Given the description of an element on the screen output the (x, y) to click on. 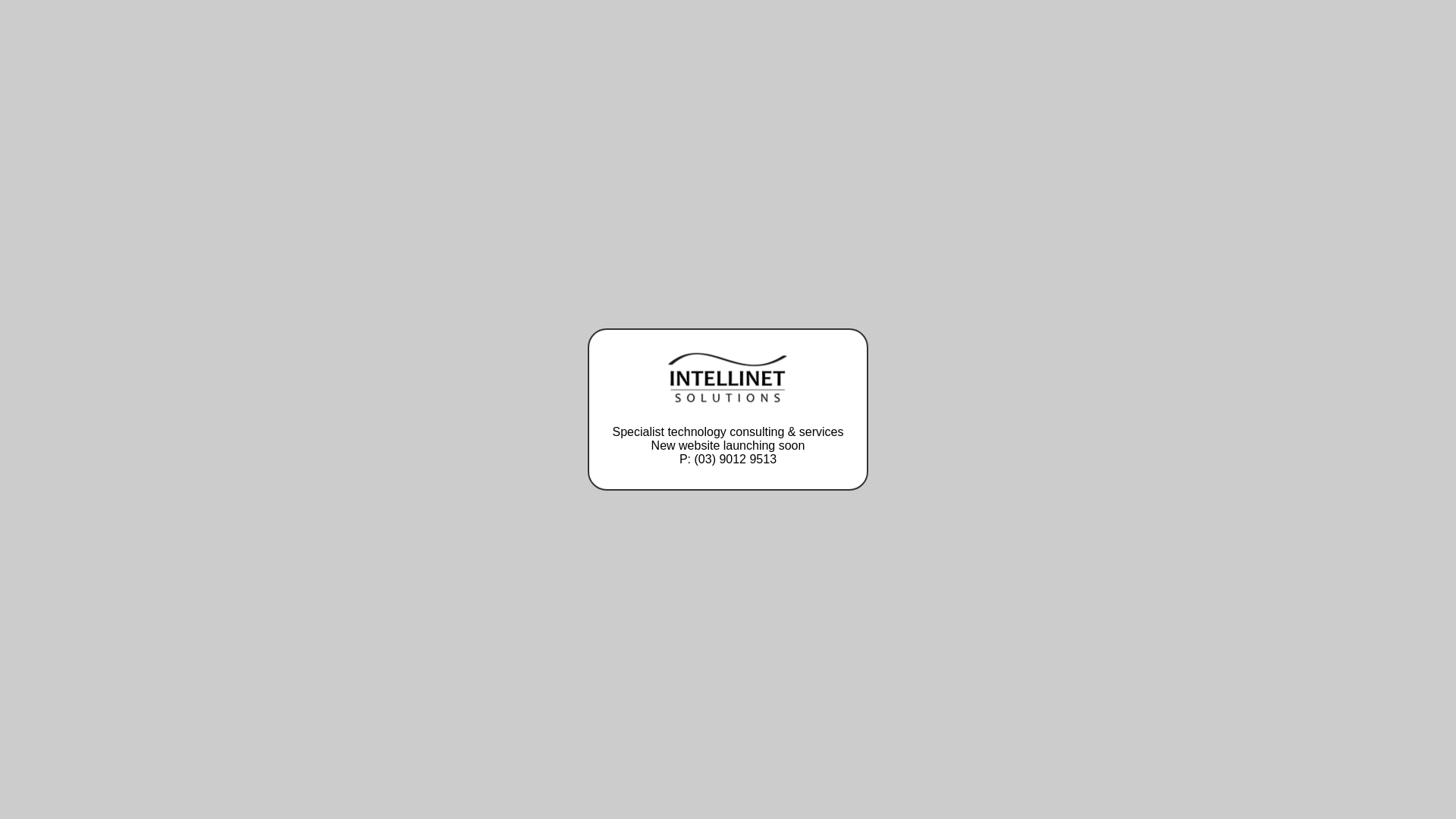
(03) 9012 9513 Element type: text (735, 458)
